Given the description of an element on the screen output the (x, y) to click on. 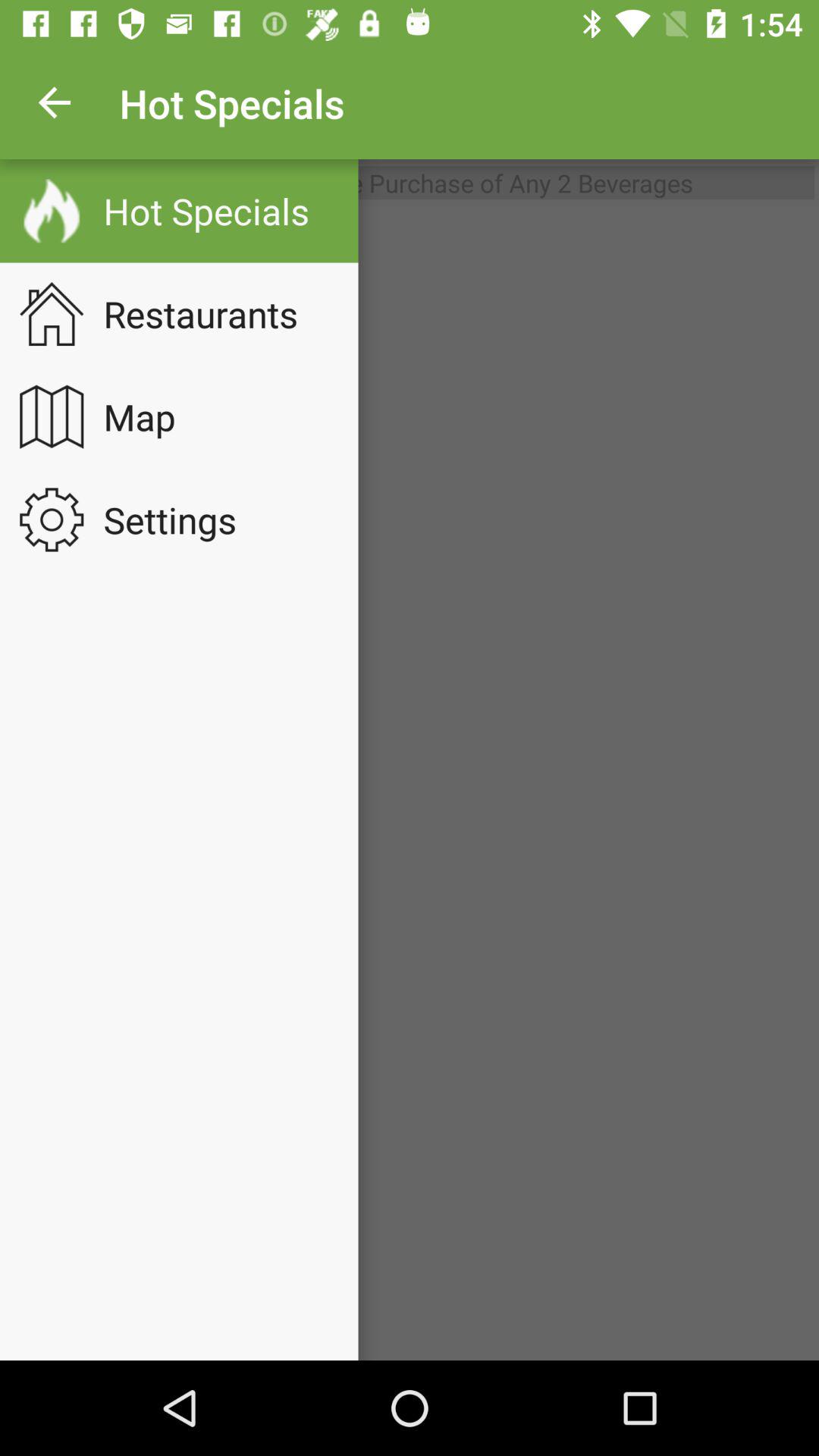
open settings item (179, 519)
